Given the description of an element on the screen output the (x, y) to click on. 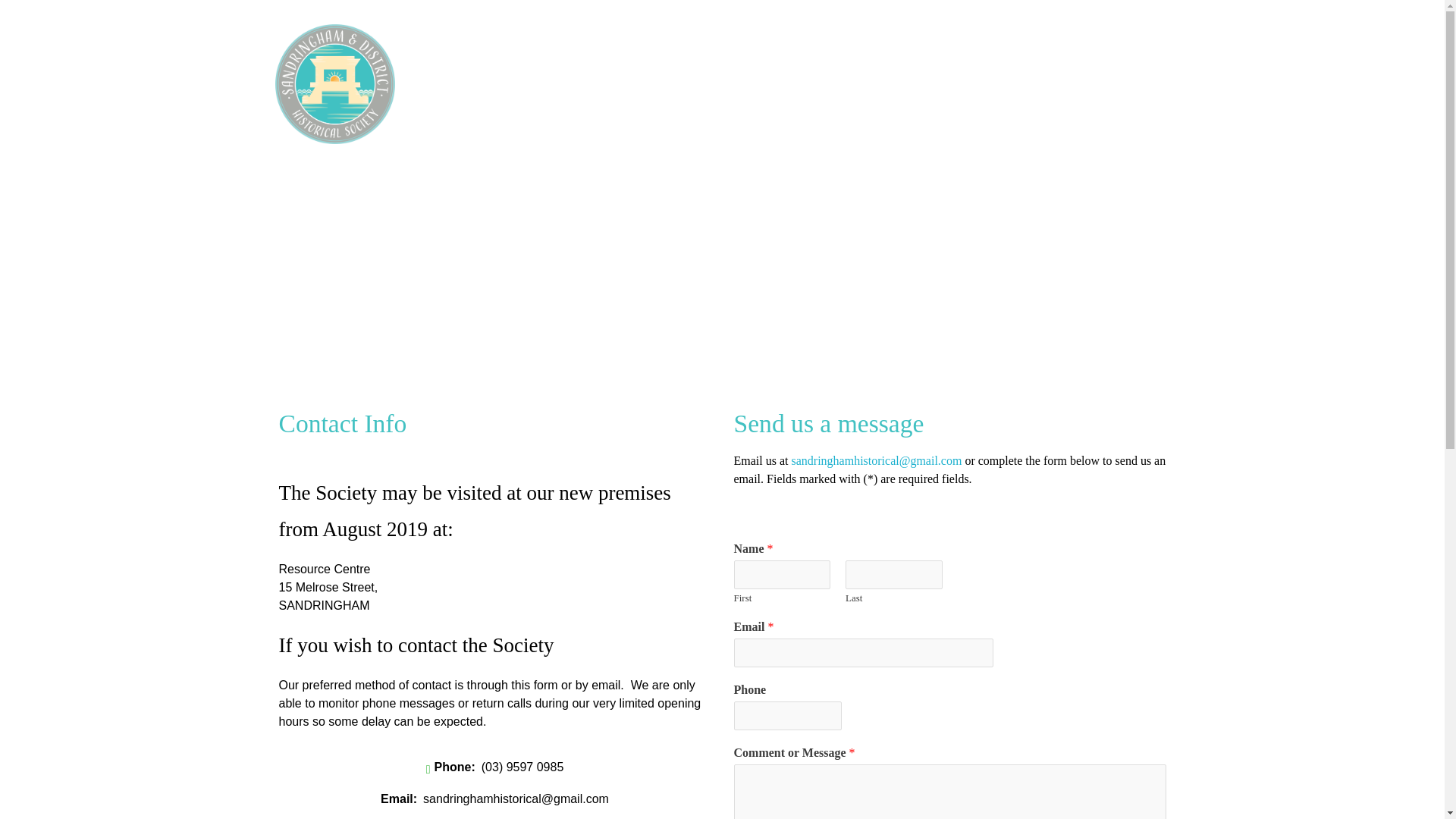
Sandringham and District Historical Society Inc. (349, 84)
Sandringham and District Historical Society Inc. (466, 152)
Sandringham and District Historical Society Inc. (466, 152)
